Given the description of an element on the screen output the (x, y) to click on. 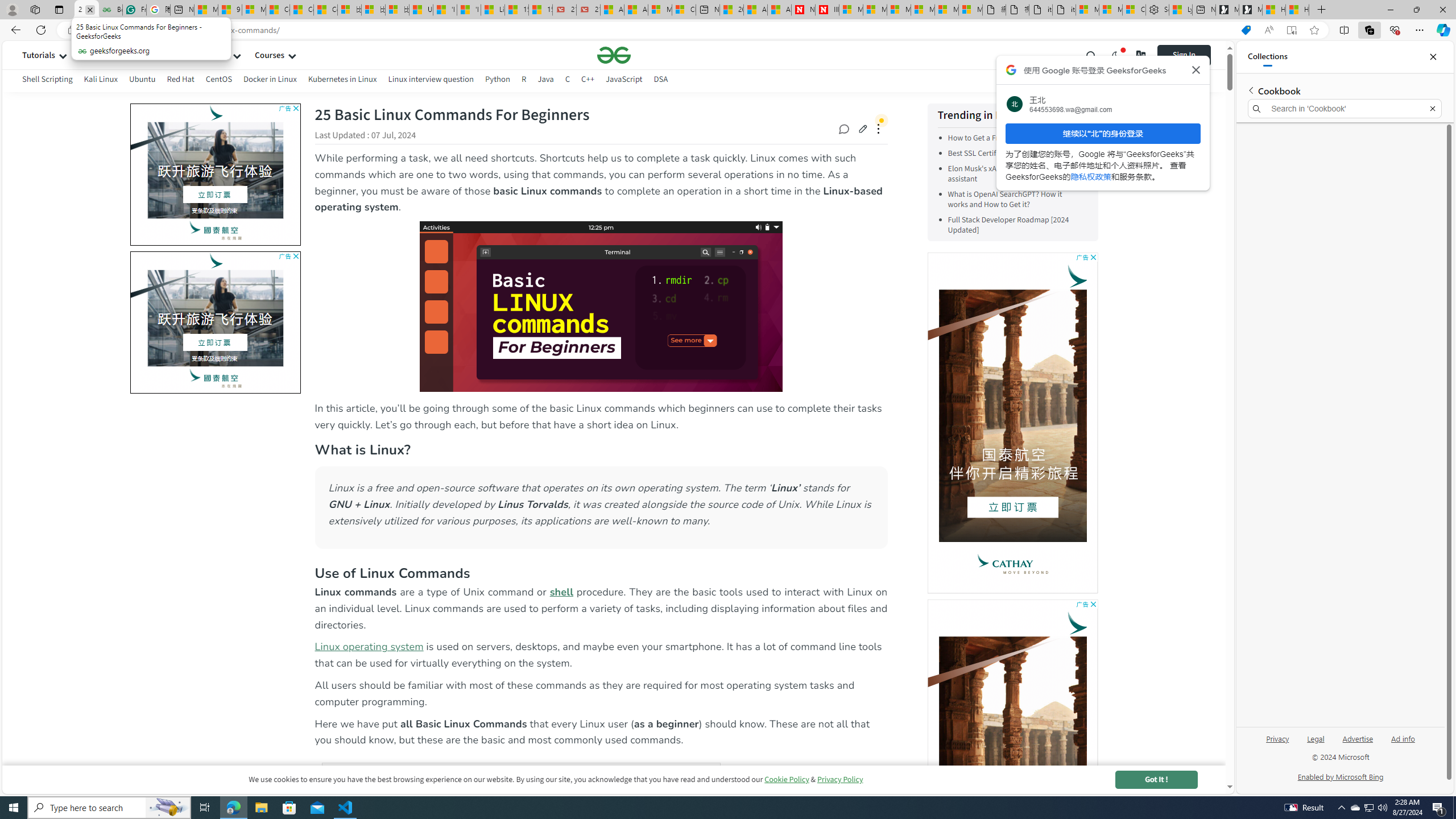
Red Hat (180, 80)
Sign In (1184, 55)
shell (560, 591)
Sign In (1191, 54)
Back to list of collections (1250, 90)
Linux interview question (430, 79)
Illness news & latest pictures from Newsweek.com (827, 9)
Lifestyle - MSN (492, 9)
CentOS (218, 80)
